Given the description of an element on the screen output the (x, y) to click on. 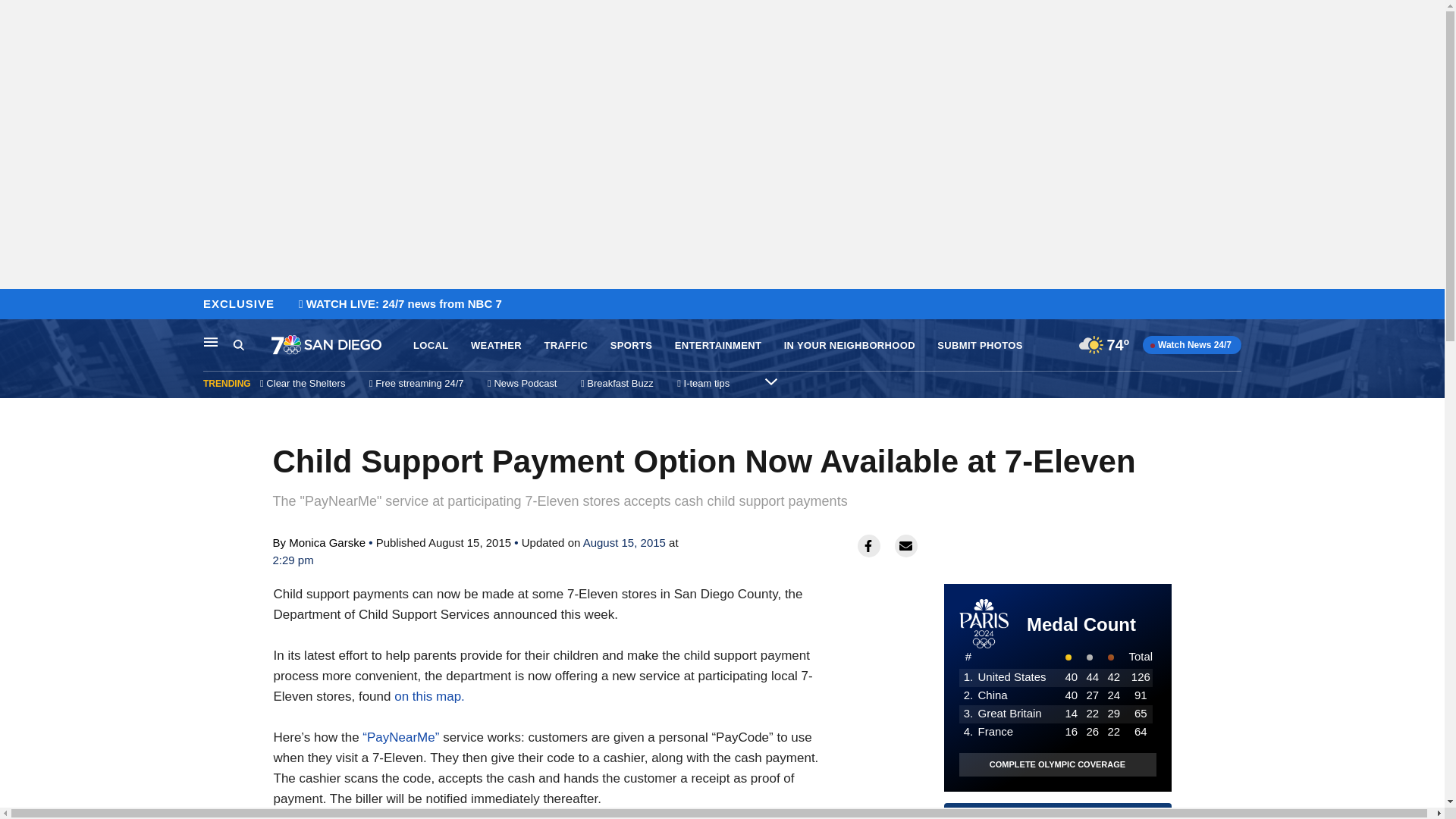
Search (1056, 815)
SUBMIT PHOTOS (238, 344)
Expand (979, 345)
WEATHER (771, 381)
ENTERTAINMENT (495, 345)
on this map. (718, 345)
COMPLETE OLYMPIC COVERAGE (429, 696)
IN YOUR NEIGHBORHOOD (1057, 764)
Main Navigation (849, 345)
